Given the description of an element on the screen output the (x, y) to click on. 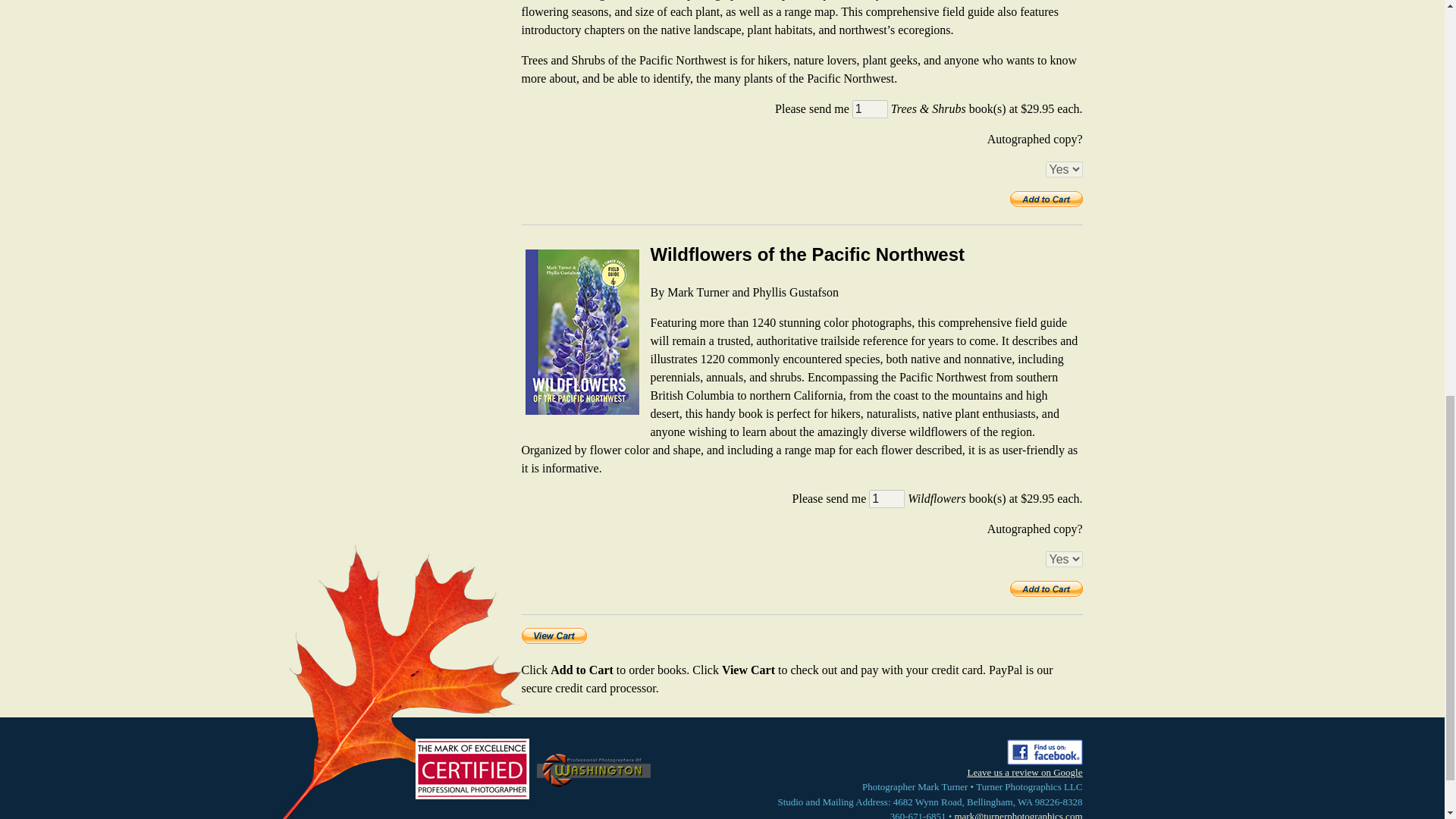
The Mark of Excellence: Certified Professional Photographer (471, 768)
The Mark of Excellence: Certified Professional Photographer (471, 768)
1 (886, 498)
Professional Photographers of Washington (592, 769)
1 (869, 108)
Professional Photographers of Washington (593, 769)
